Given the description of an element on the screen output the (x, y) to click on. 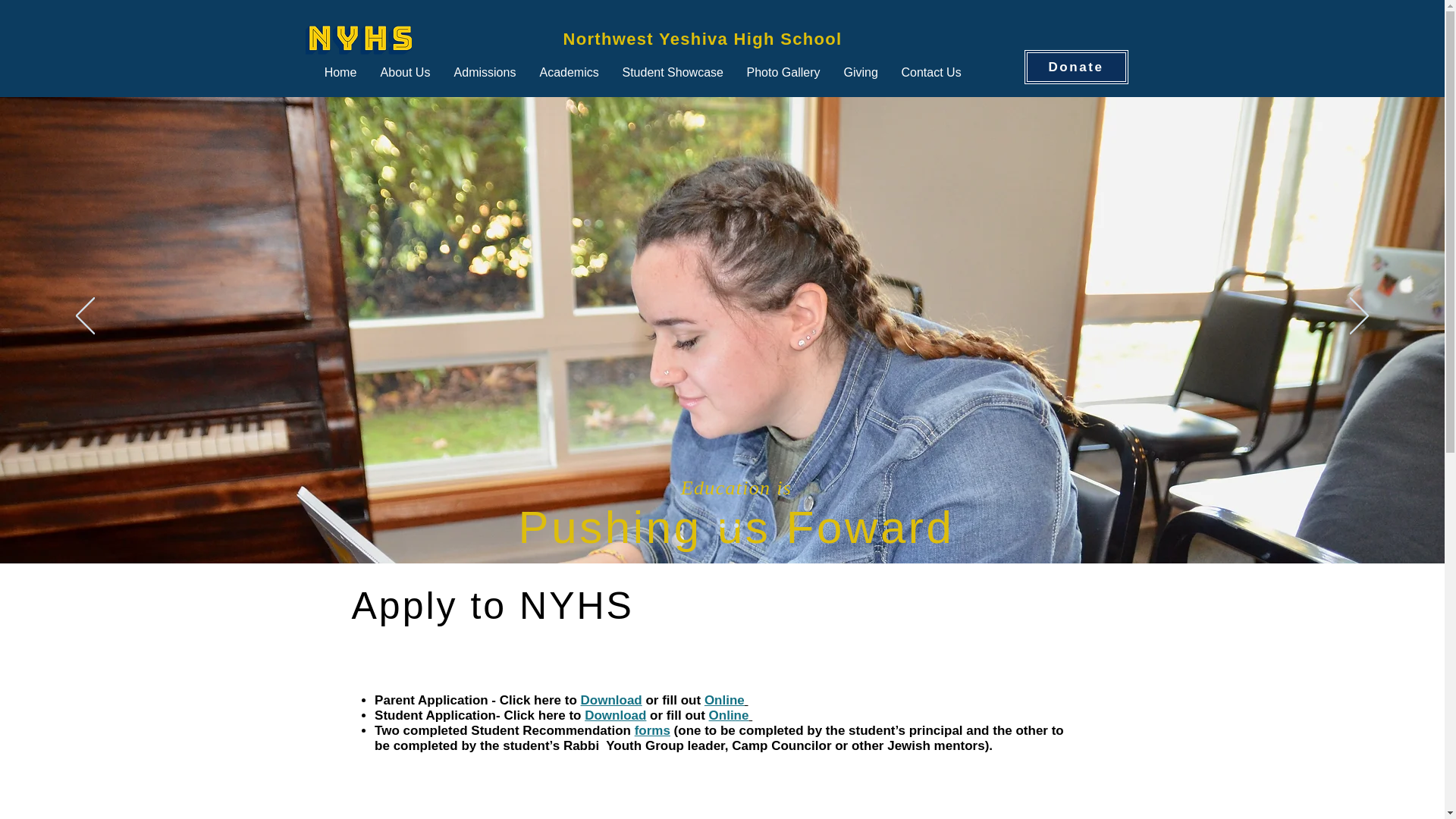
Student Showcase (673, 72)
Giving (860, 72)
Donate (1074, 66)
Photo Gallery (783, 72)
About Us (404, 72)
Northwest Yeshiva High School (701, 38)
Admissions (484, 72)
Academics (568, 72)
Contact Us (930, 72)
Home (340, 72)
